Given the description of an element on the screen output the (x, y) to click on. 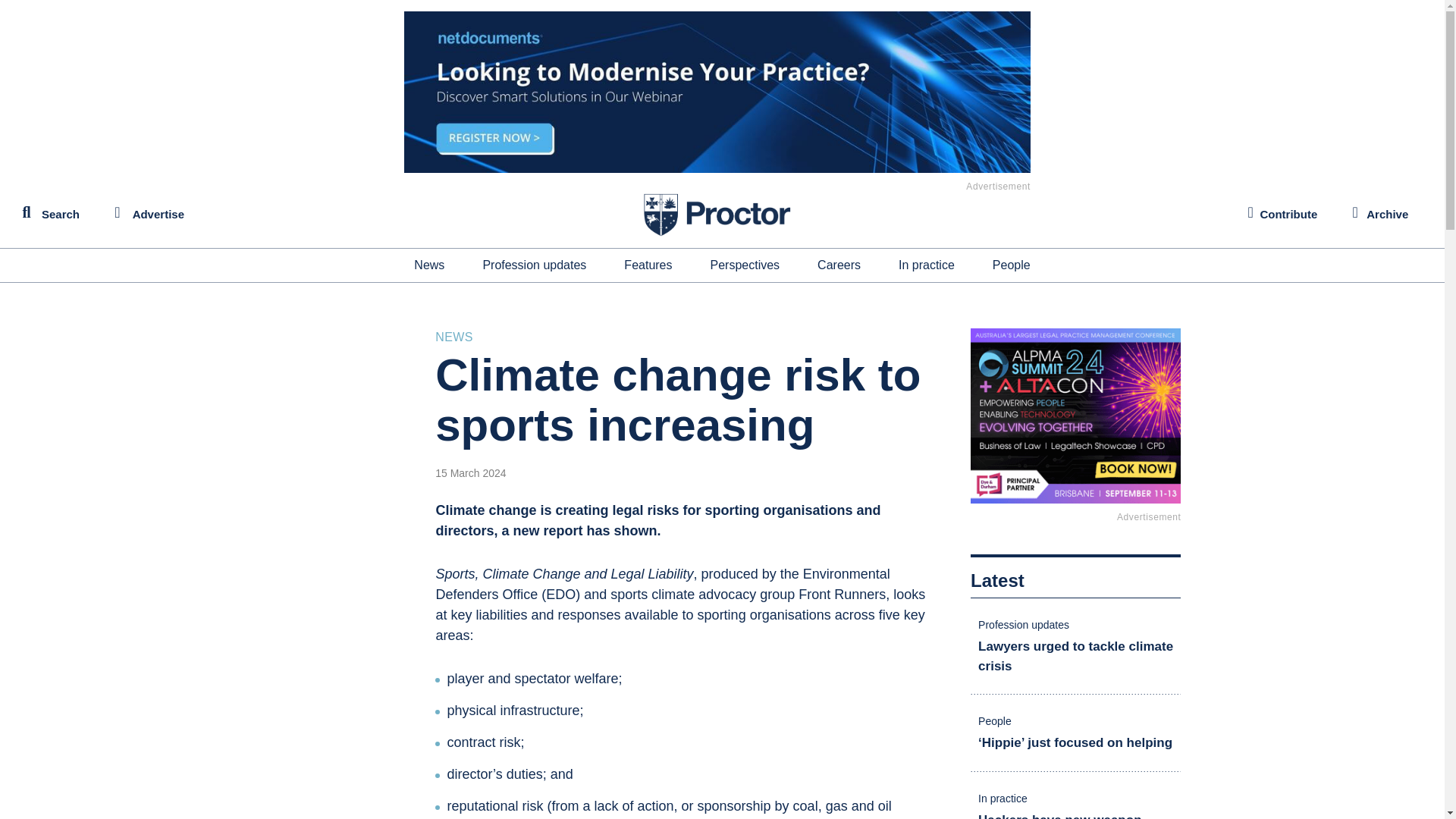
Profession updates (534, 264)
In practice (926, 264)
Perspectives (745, 264)
Features (647, 264)
News (428, 264)
People (1011, 264)
Careers (838, 264)
